Given the description of an element on the screen output the (x, y) to click on. 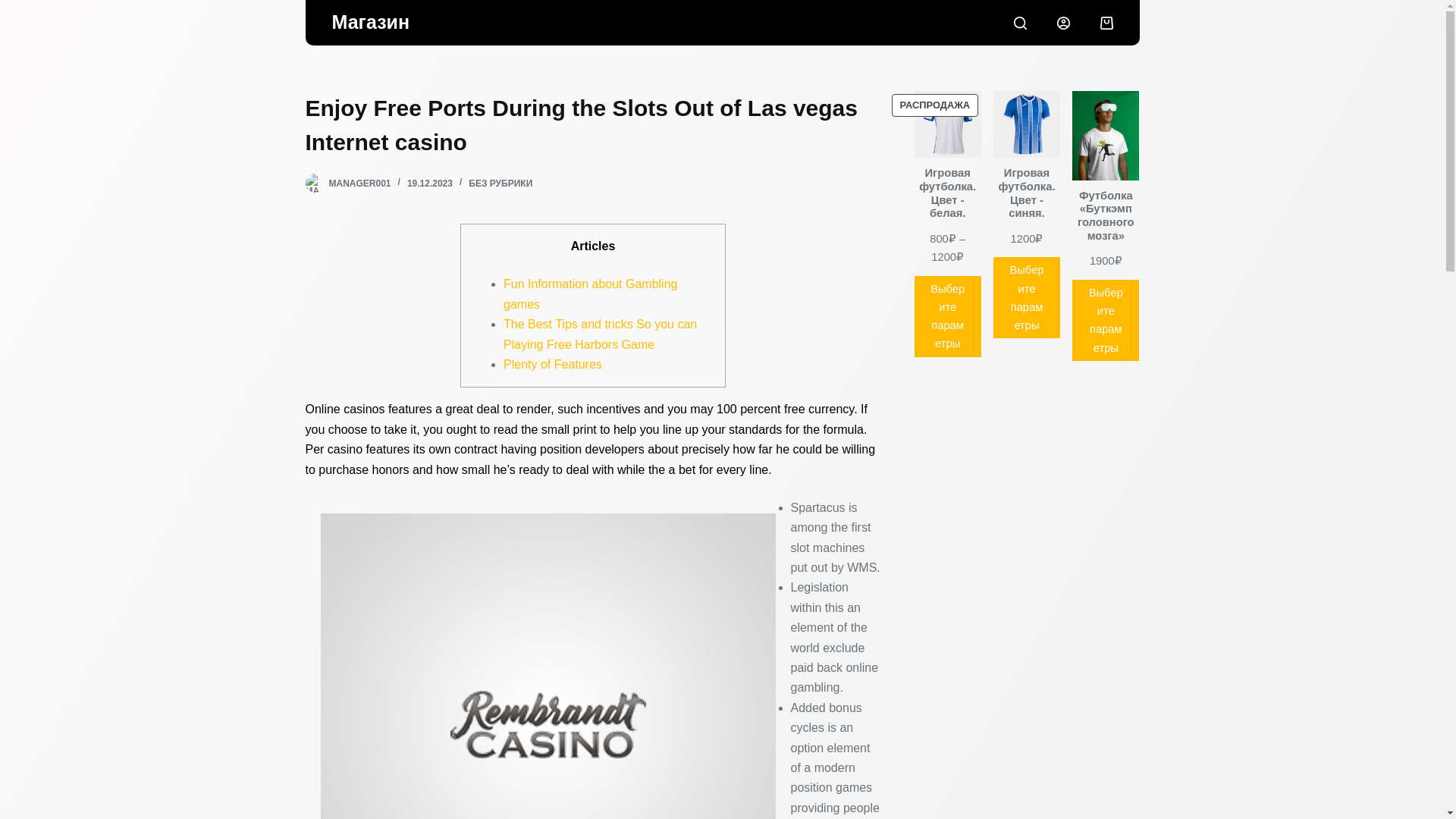
Fun Information about Gambling games (590, 293)
MANAGER001 (360, 183)
Plenty of Features (552, 364)
